Given the description of an element on the screen output the (x, y) to click on. 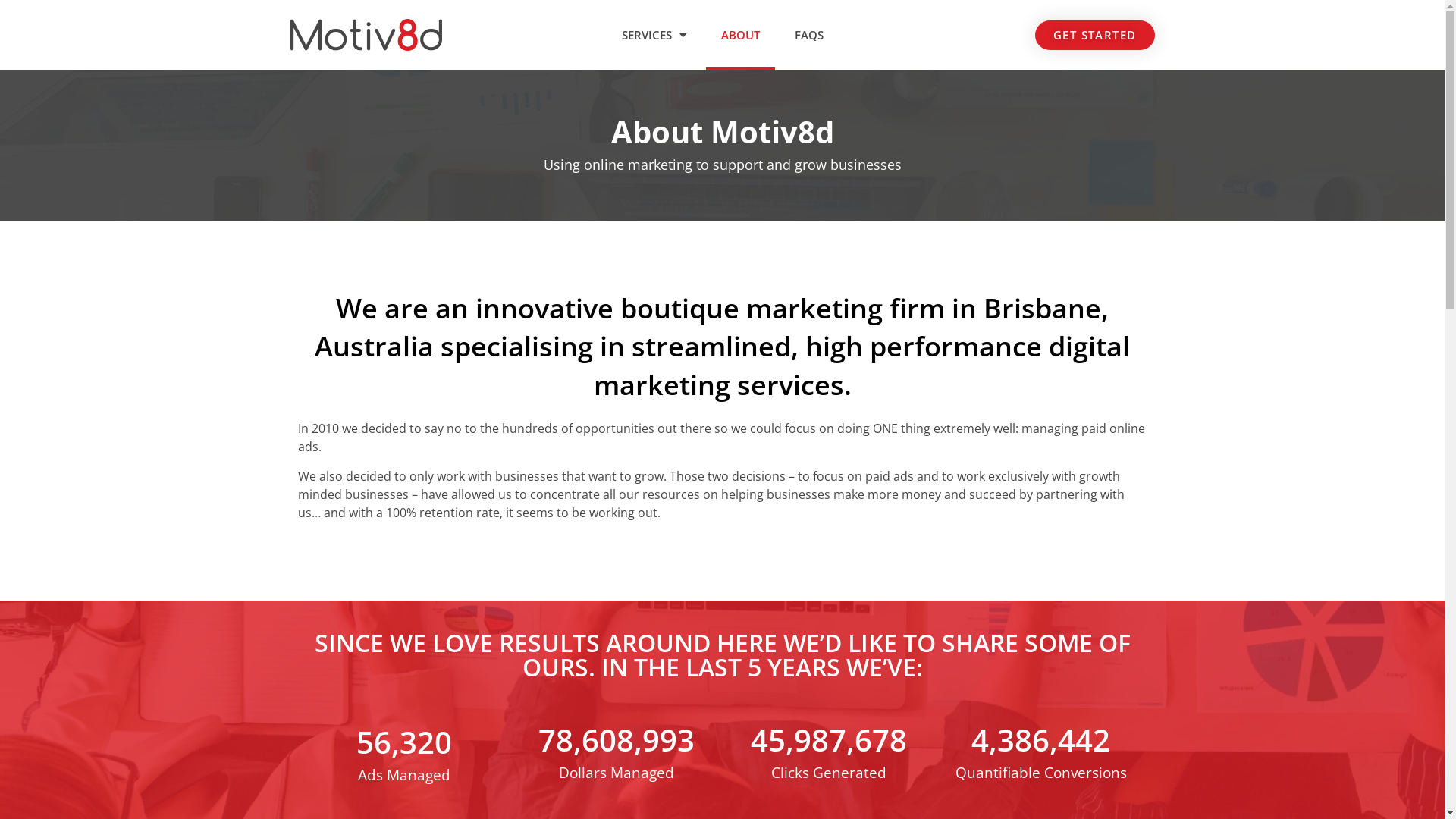
FAQS Element type: text (808, 34)
GET STARTED Element type: text (1094, 34)
ABOUT Element type: text (739, 34)
SERVICES Element type: text (653, 34)
